Given the description of an element on the screen output the (x, y) to click on. 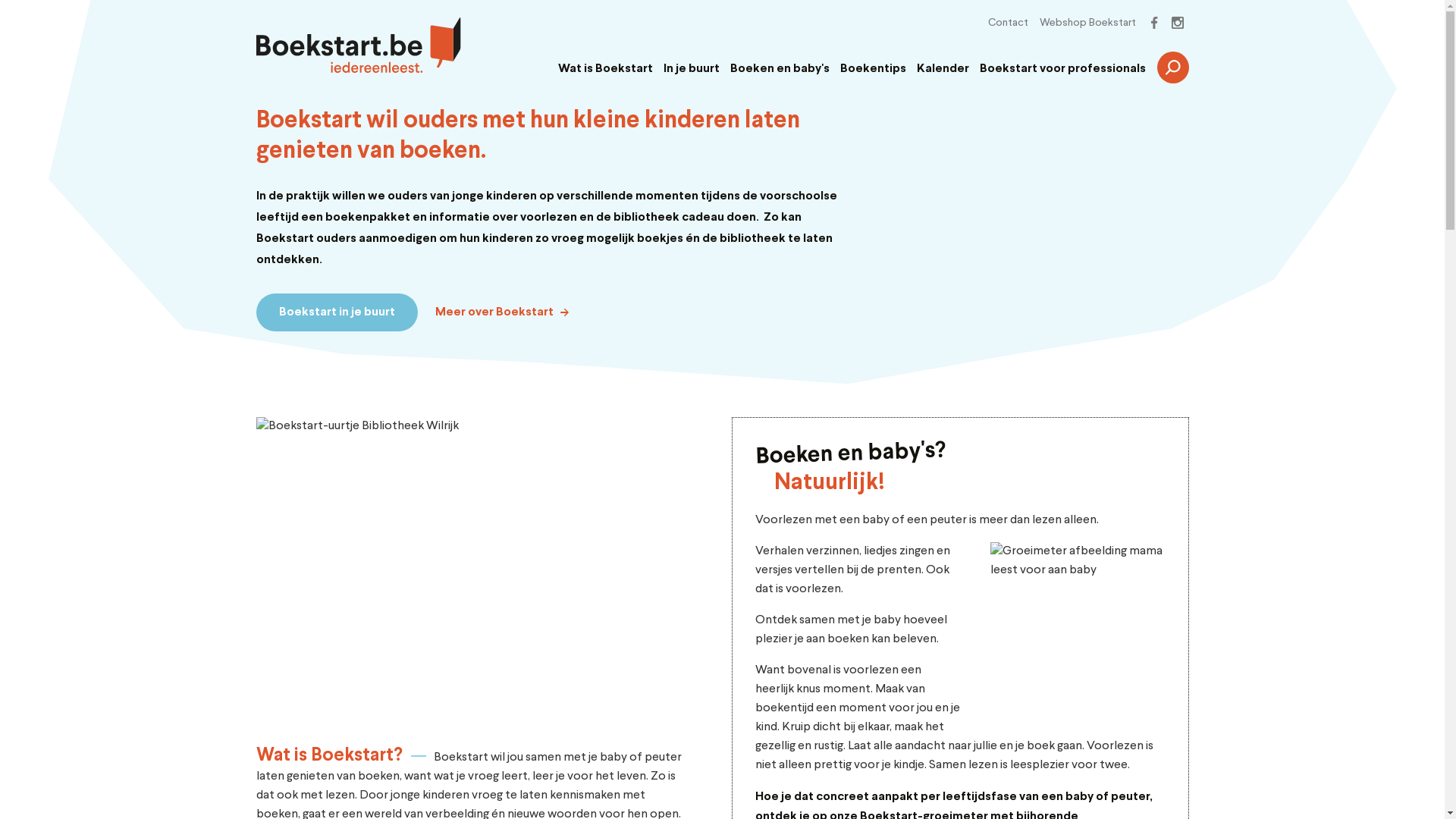
Wat is Boekstart Element type: text (605, 68)
Boeken en baby's Element type: text (778, 68)
Kalender Element type: text (942, 68)
In je buurt Element type: text (690, 68)
Instagram Element type: text (1177, 22)
Meer over Boekstart Element type: text (501, 311)
Webshop Boekstart Element type: text (1086, 22)
Zoeken Element type: text (1173, 67)
Facebook Element type: text (1154, 22)
Contact Element type: text (1007, 22)
Wat is Boekstart? Element type: text (329, 755)
Overslaan en naar de inhoud gaan Element type: text (0, 0)
Boekstart voor professionals Element type: text (1062, 68)
Boekstart in je buurt Element type: text (336, 312)
Boekentips Element type: text (873, 68)
